Given the description of an element on the screen output the (x, y) to click on. 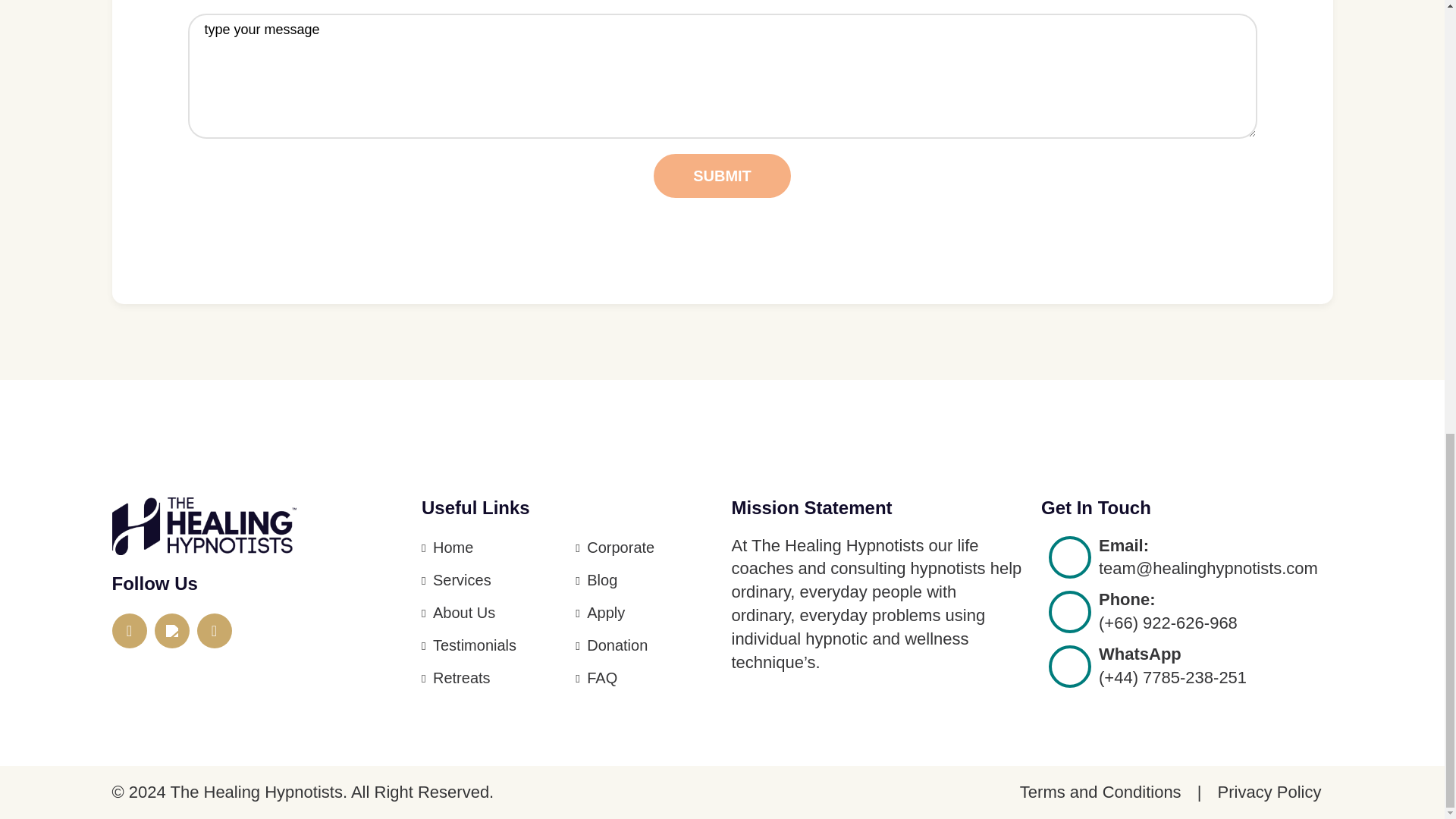
Services (462, 579)
Blog (601, 579)
Donation (616, 645)
About Us (463, 612)
Retreats (461, 677)
Submit (721, 175)
Apply (605, 612)
Testimonials (474, 645)
Corporate (619, 547)
Submit (721, 175)
